Given the description of an element on the screen output the (x, y) to click on. 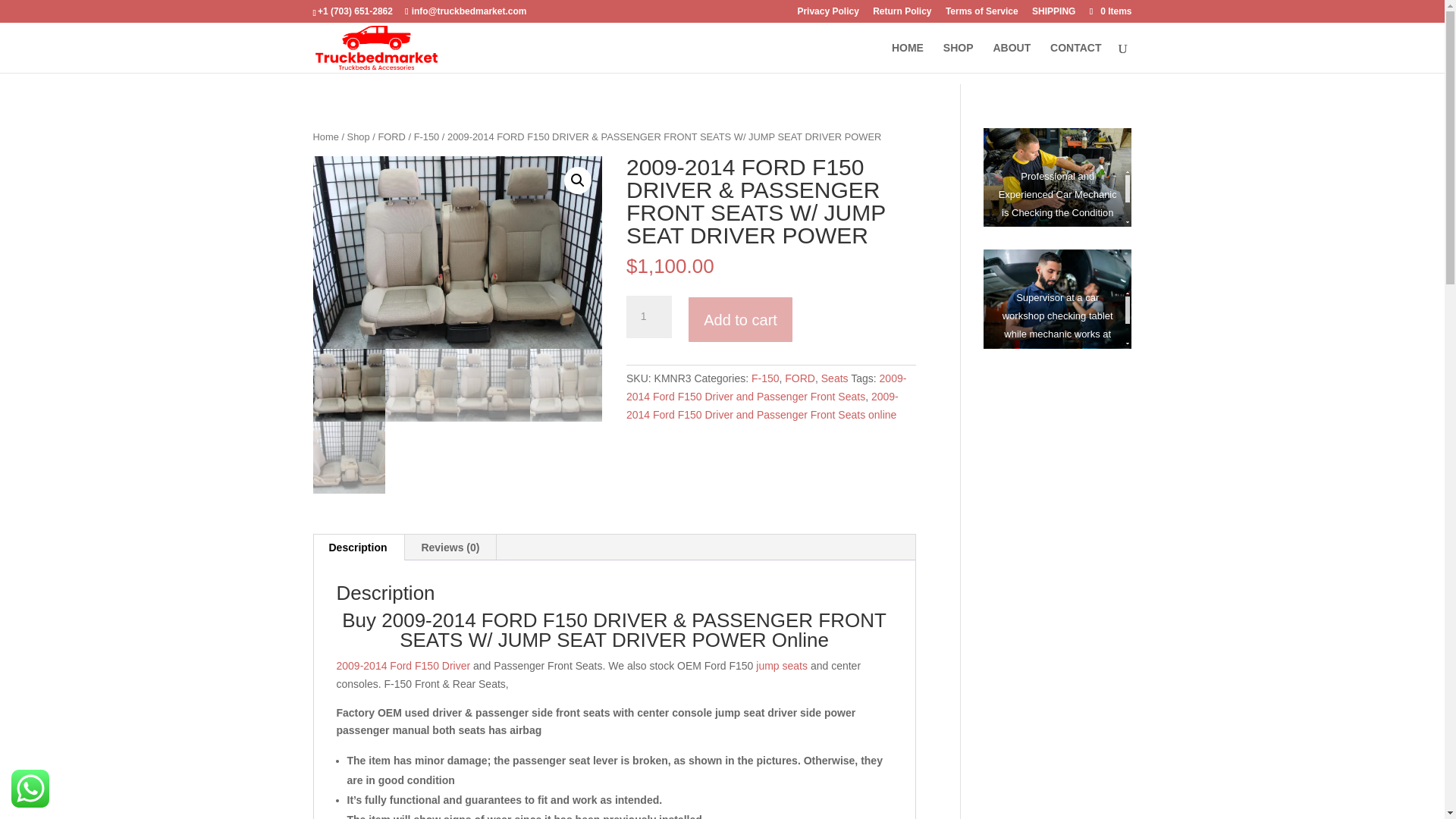
CONTACT (1074, 57)
Description (358, 547)
SHIPPING (1053, 14)
2009-2014 Ford F150 Driver and Passenger Front Seats (765, 387)
Shop (358, 136)
2009-2014 Ford F150 Driver and Passenger Front Seats online (762, 405)
Home (325, 136)
jump seats  (782, 665)
Add to cart (740, 319)
1 (648, 316)
FORD (390, 136)
HOME (907, 57)
Return Policy (901, 14)
ABOUT (1011, 57)
F-150 (764, 378)
